Given the description of an element on the screen output the (x, y) to click on. 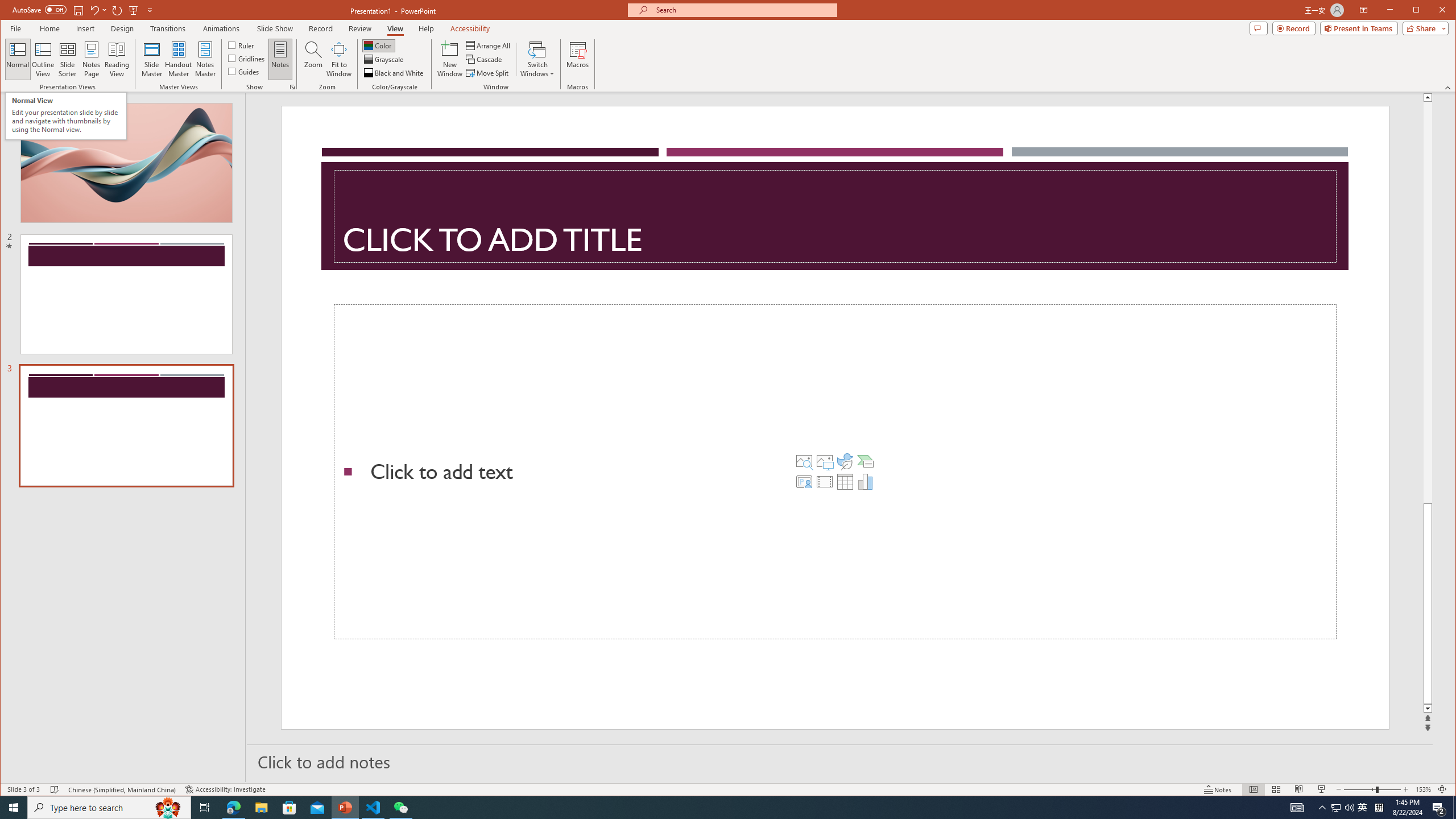
Color (378, 45)
Content Placeholder (834, 471)
Arrange All (488, 45)
Switch Windows (537, 59)
Ruler (241, 44)
